Given the description of an element on the screen output the (x, y) to click on. 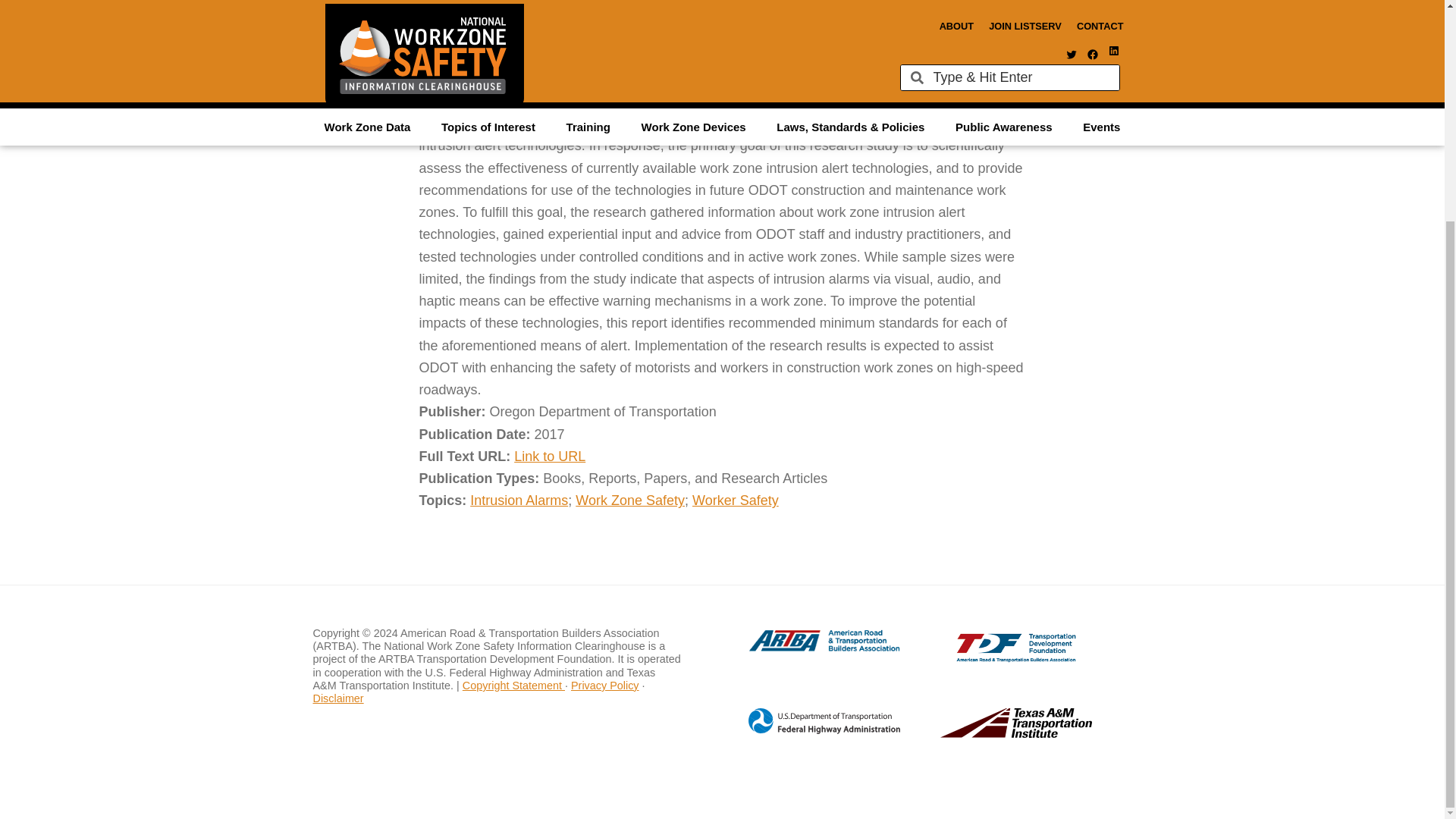
ARTBA Transportation Development Foundation website (985, 658)
ARTBA website (808, 649)
Link to URL (549, 456)
FHWA website (808, 730)
